Given the description of an element on the screen output the (x, y) to click on. 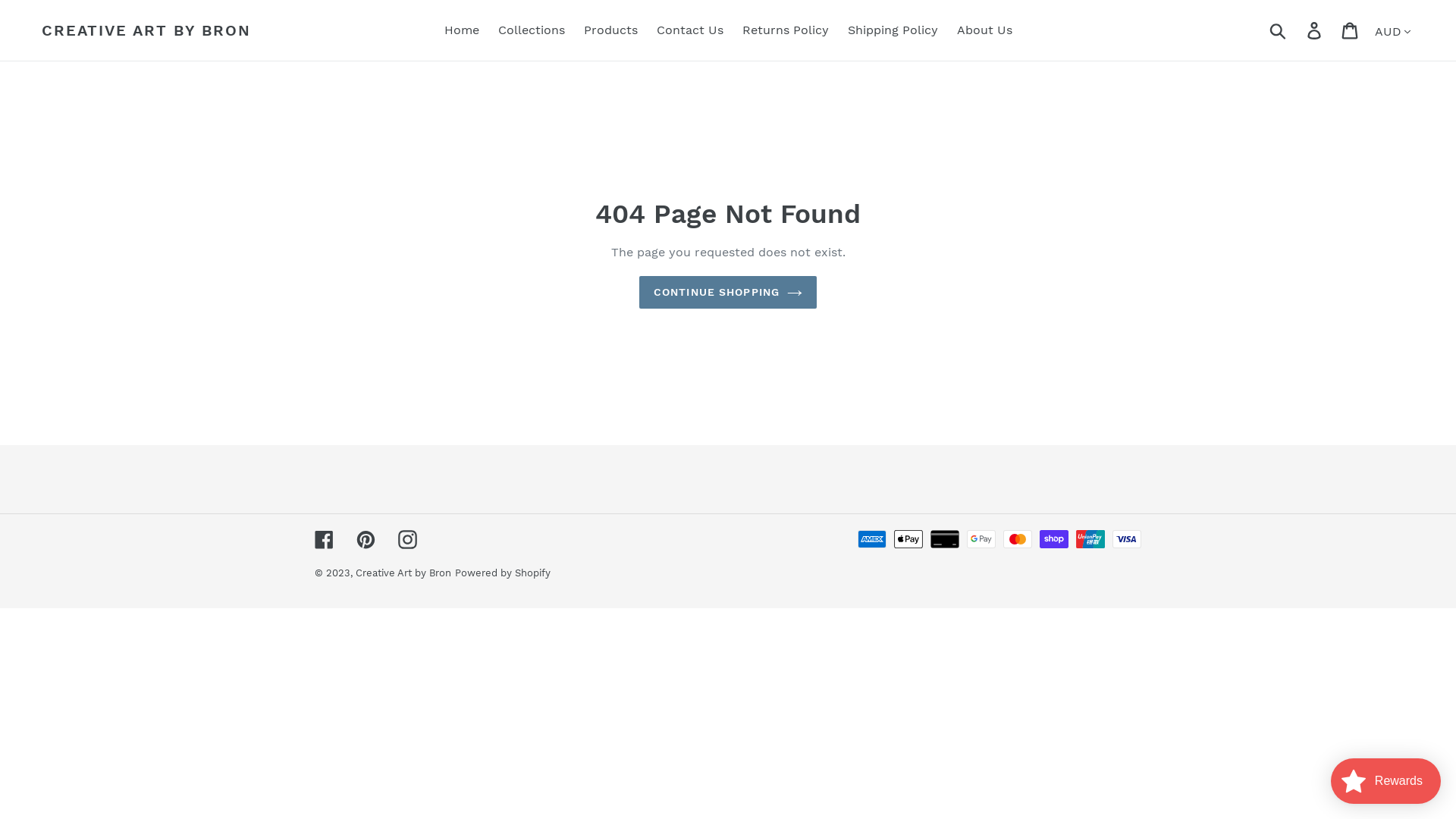
Submit Element type: text (1278, 30)
Products Element type: text (610, 29)
Cart Element type: text (1350, 30)
Pinterest Element type: text (365, 539)
Powered by Shopify Element type: text (502, 572)
Instagram Element type: text (407, 539)
Shipping Policy Element type: text (892, 29)
CREATIVE ART BY BRON Element type: text (146, 30)
Contact Us Element type: text (690, 29)
Home Element type: text (461, 29)
Creative Art by Bron Element type: text (403, 572)
Log in Element type: text (1315, 30)
About Us Element type: text (984, 29)
Collections Element type: text (530, 29)
CONTINUE SHOPPING Element type: text (727, 292)
Facebook Element type: text (323, 539)
Returns Policy Element type: text (784, 29)
